Given the description of an element on the screen output the (x, y) to click on. 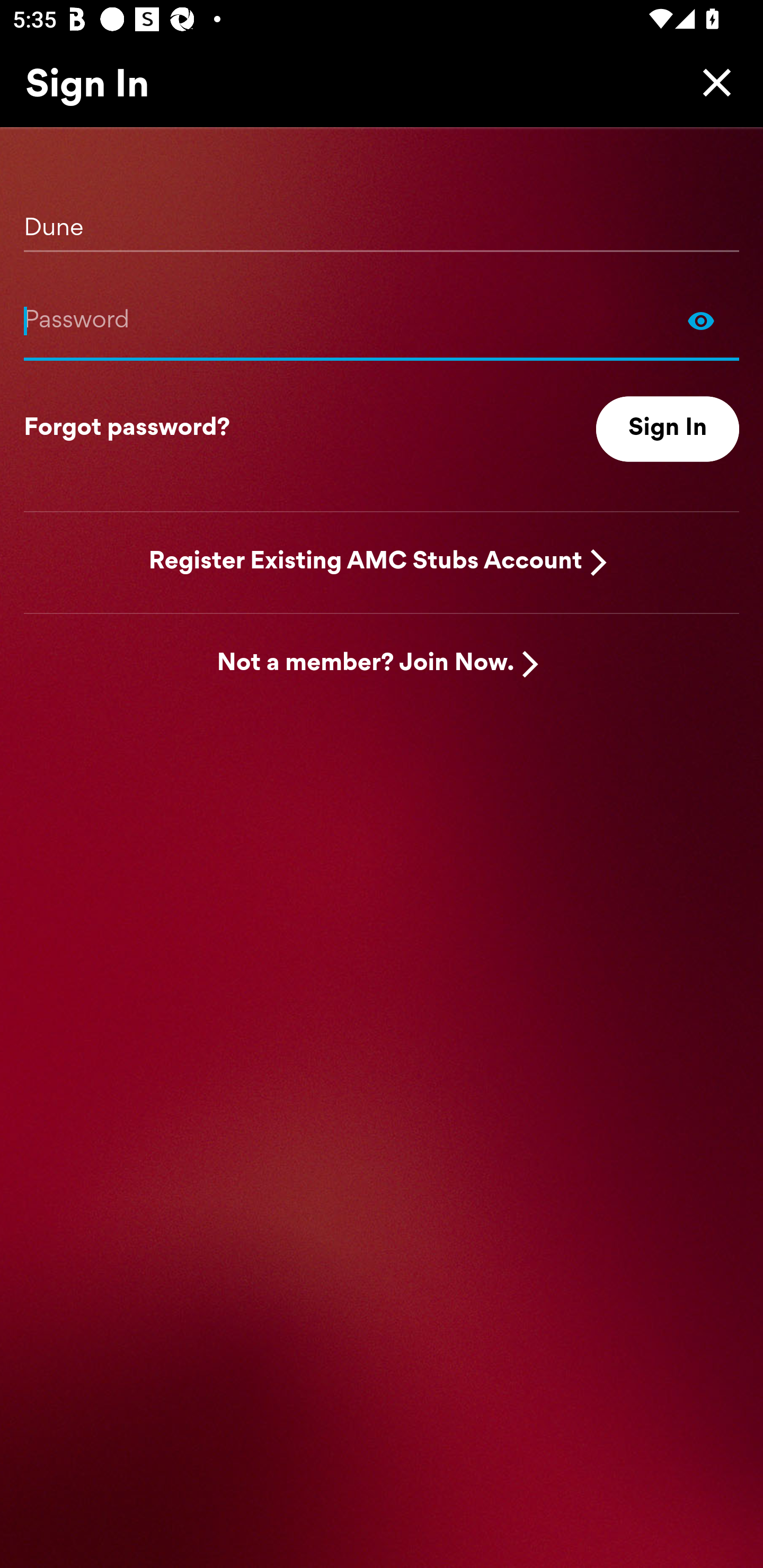
Close (712, 82)
Dune (381, 220)
Show Password (381, 320)
Show Password (701, 320)
Forgot password? (126, 428)
Sign In (667, 428)
Register Existing AMC Stubs Account (365, 561)
Not a member? Join Now. (365, 663)
